Given the description of an element on the screen output the (x, y) to click on. 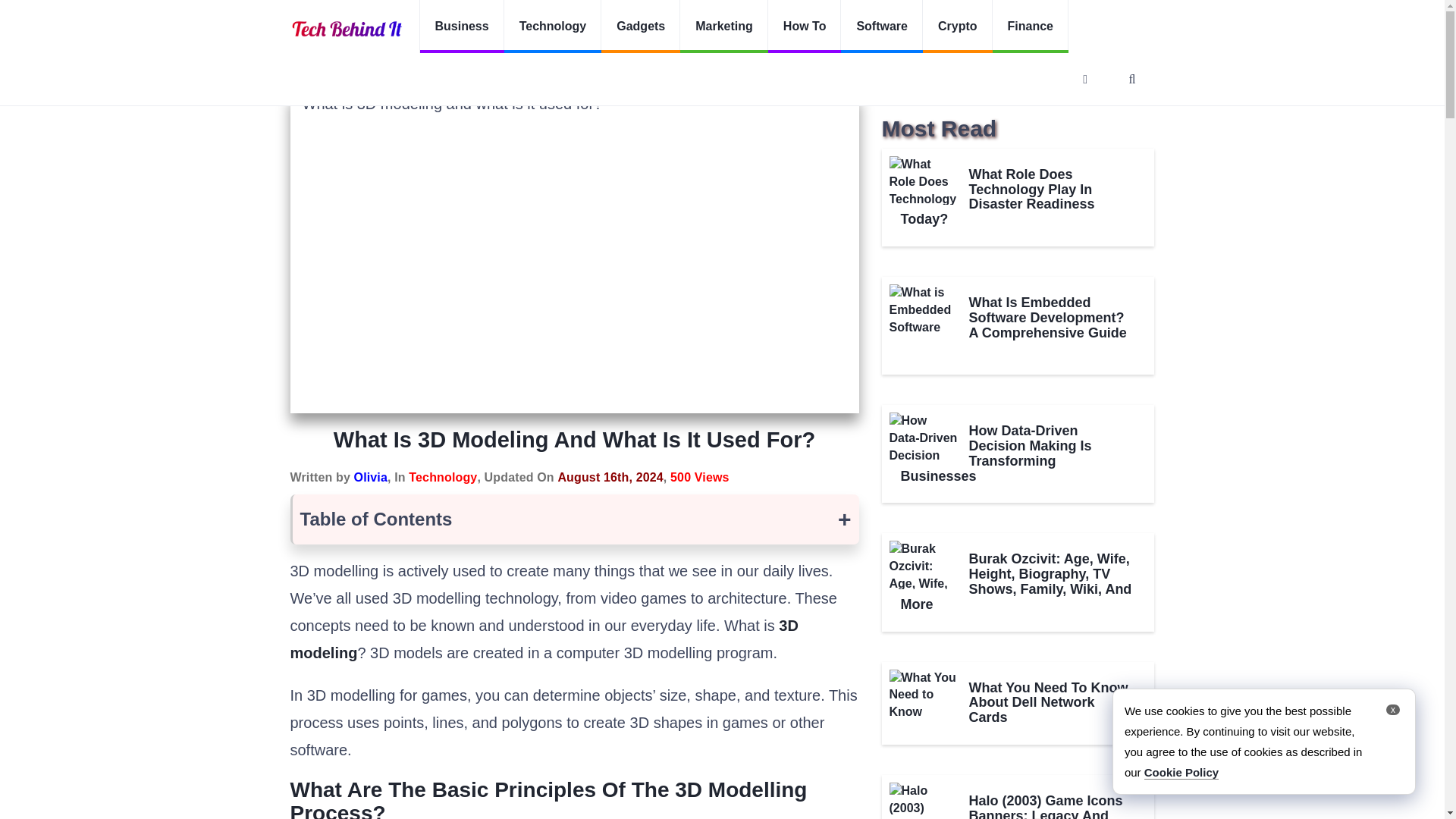
Technology (368, 72)
What Is 3D Modeling And What Is It Used For? (524, 72)
x (1392, 709)
Crypto (957, 26)
Technology (443, 477)
Home (303, 72)
What You Need to Know About Dell Network Cards (922, 693)
